Given the description of an element on the screen output the (x, y) to click on. 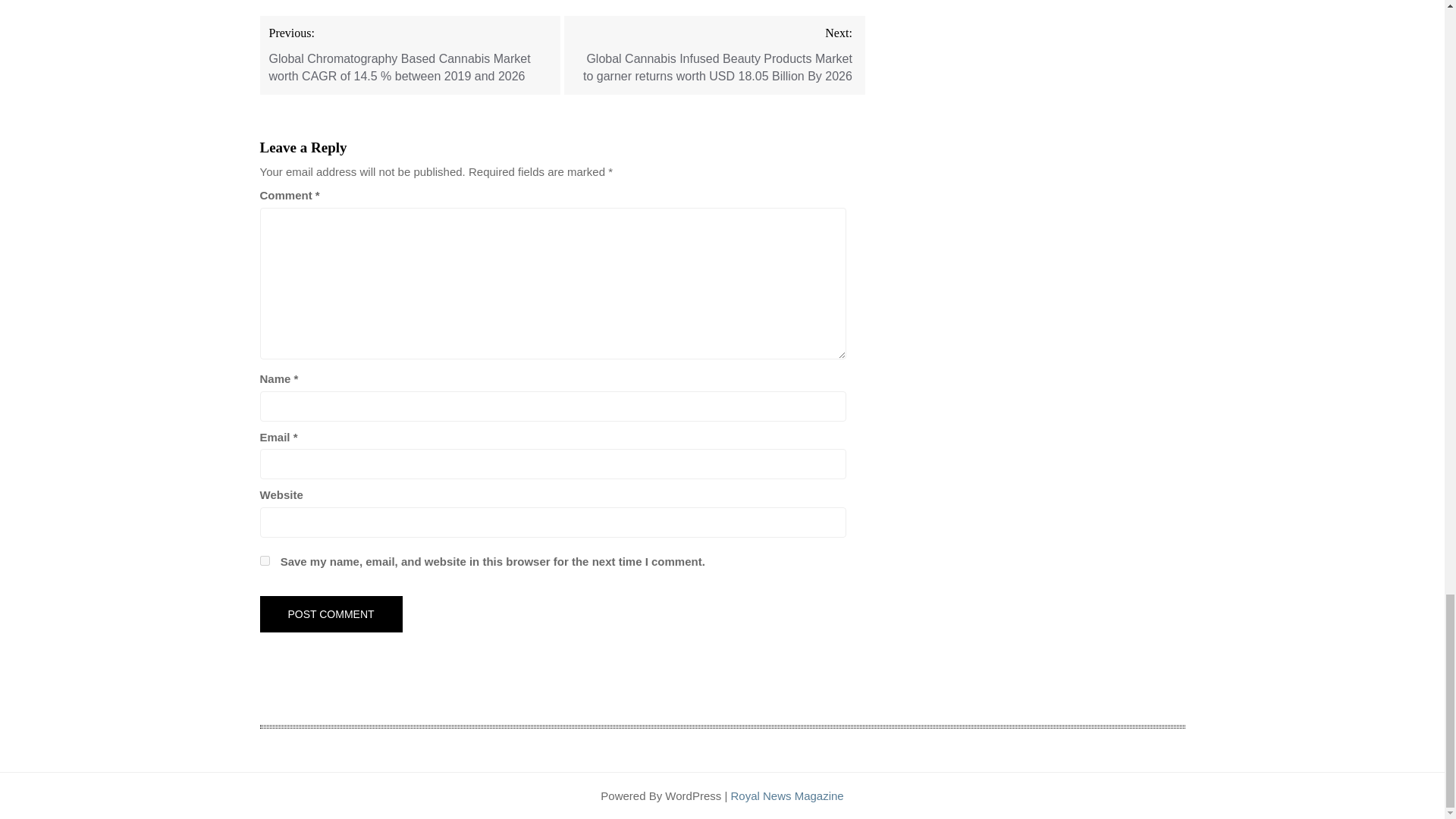
Royal News Magazine (786, 795)
Post Comment (330, 614)
yes (264, 560)
Post Comment (330, 614)
